Given the description of an element on the screen output the (x, y) to click on. 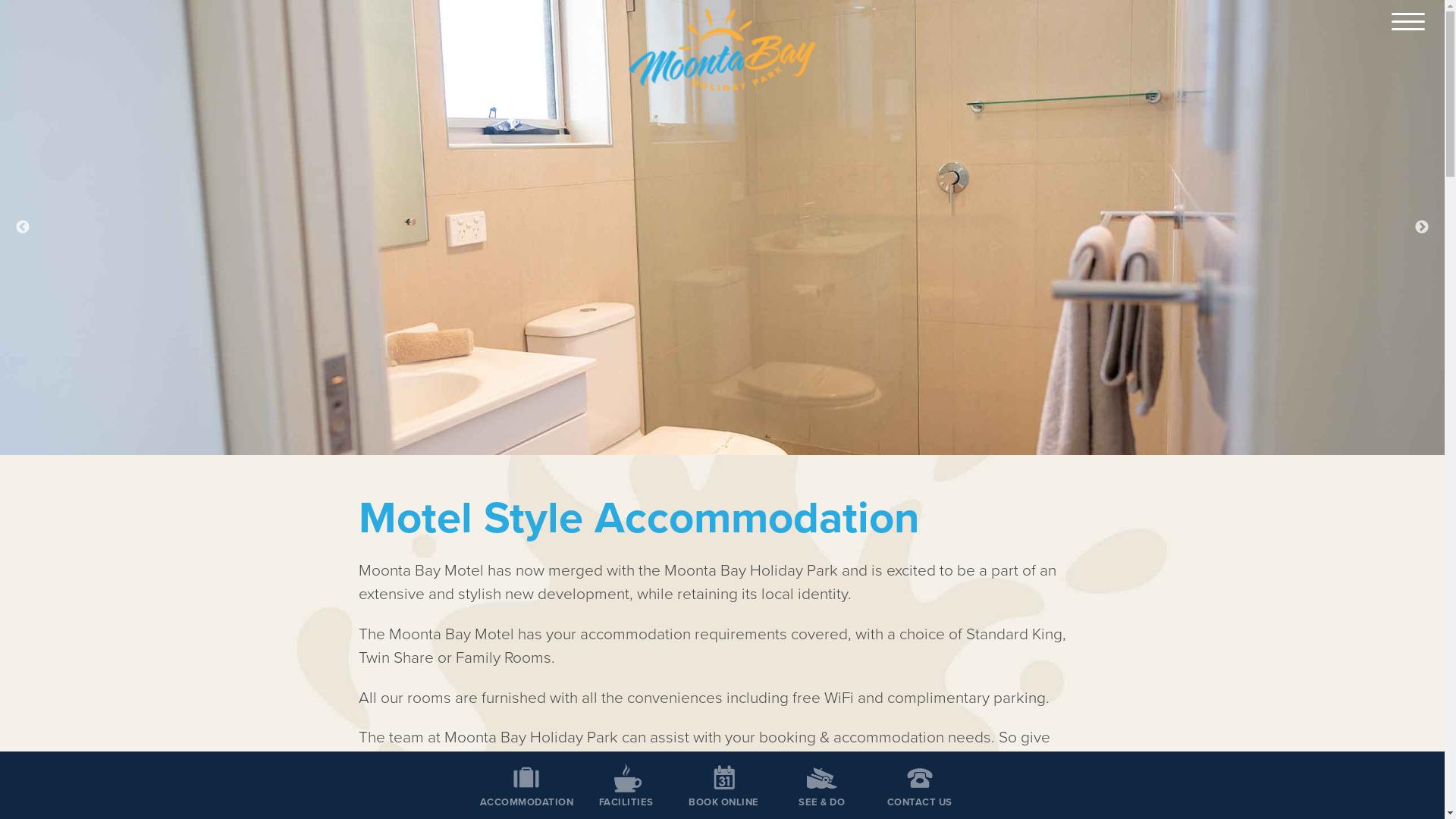
Previous Element type: text (22, 227)
Next Element type: text (1421, 227)
